Given the description of an element on the screen output the (x, y) to click on. 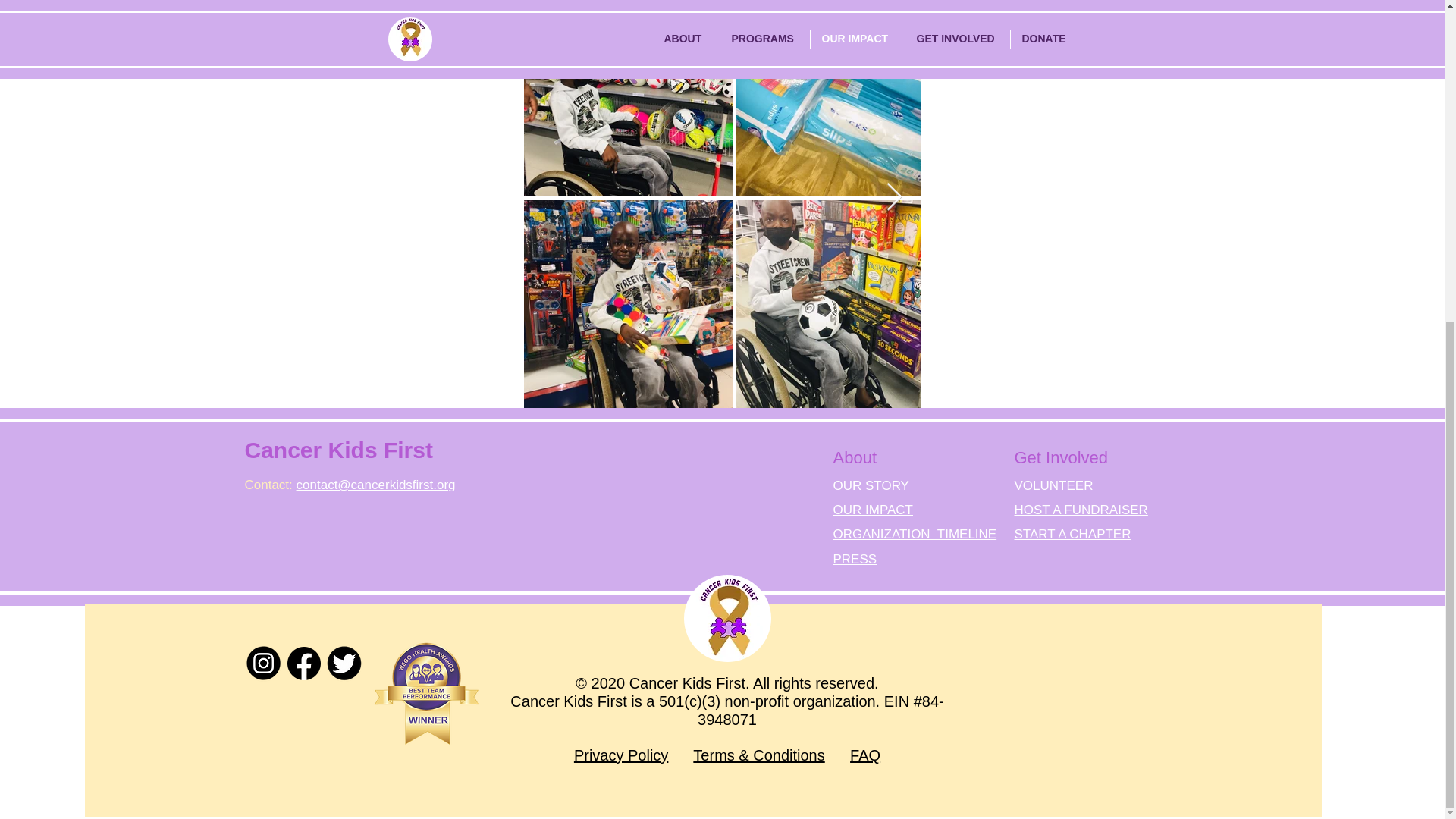
OUR STORY (870, 485)
ORGANIZATION  TIMELINE (913, 534)
VOLUNTEER (1053, 485)
HOST A FUNDRAISER (1081, 509)
OUR IMPACT (872, 509)
Privacy Policy (620, 754)
START A CHAPTER (1072, 534)
Cancer Kids First logo.JPG (727, 617)
PRESS (854, 559)
